Given the description of an element on the screen output the (x, y) to click on. 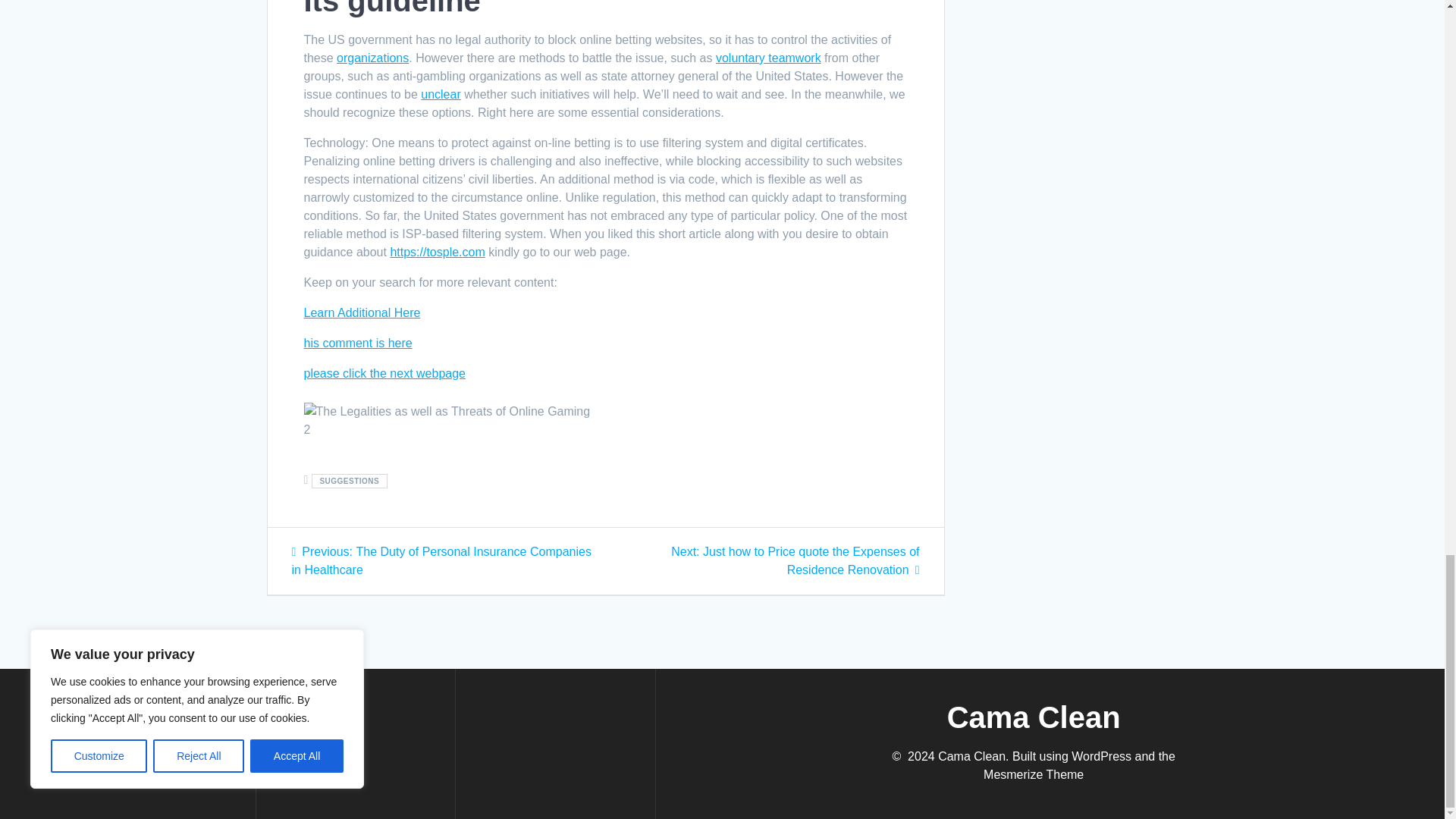
please click the next webpage (383, 373)
Learn Additional Here (361, 312)
his comment is here (357, 342)
organizations (372, 57)
voluntary teamwork (768, 57)
unclear (440, 93)
SUGGESTIONS (349, 481)
